Given the description of an element on the screen output the (x, y) to click on. 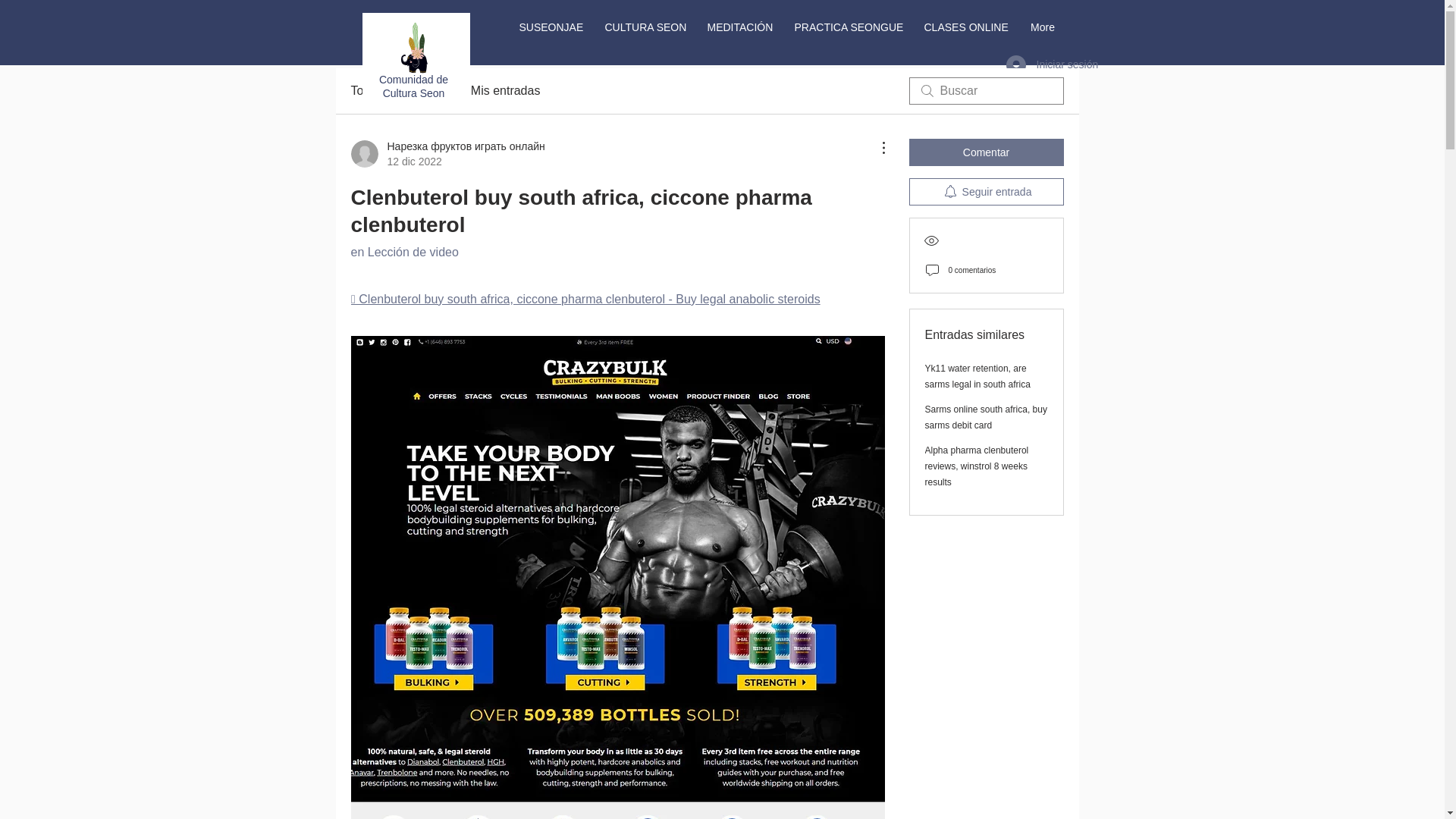
Mis entradas (505, 90)
Todas las entradas (400, 90)
CULTURA SEON (643, 26)
PRACTICA SEONGUE (847, 26)
CLASES ONLINE (965, 26)
SUSEONJAE (551, 26)
